Given the description of an element on the screen output the (x, y) to click on. 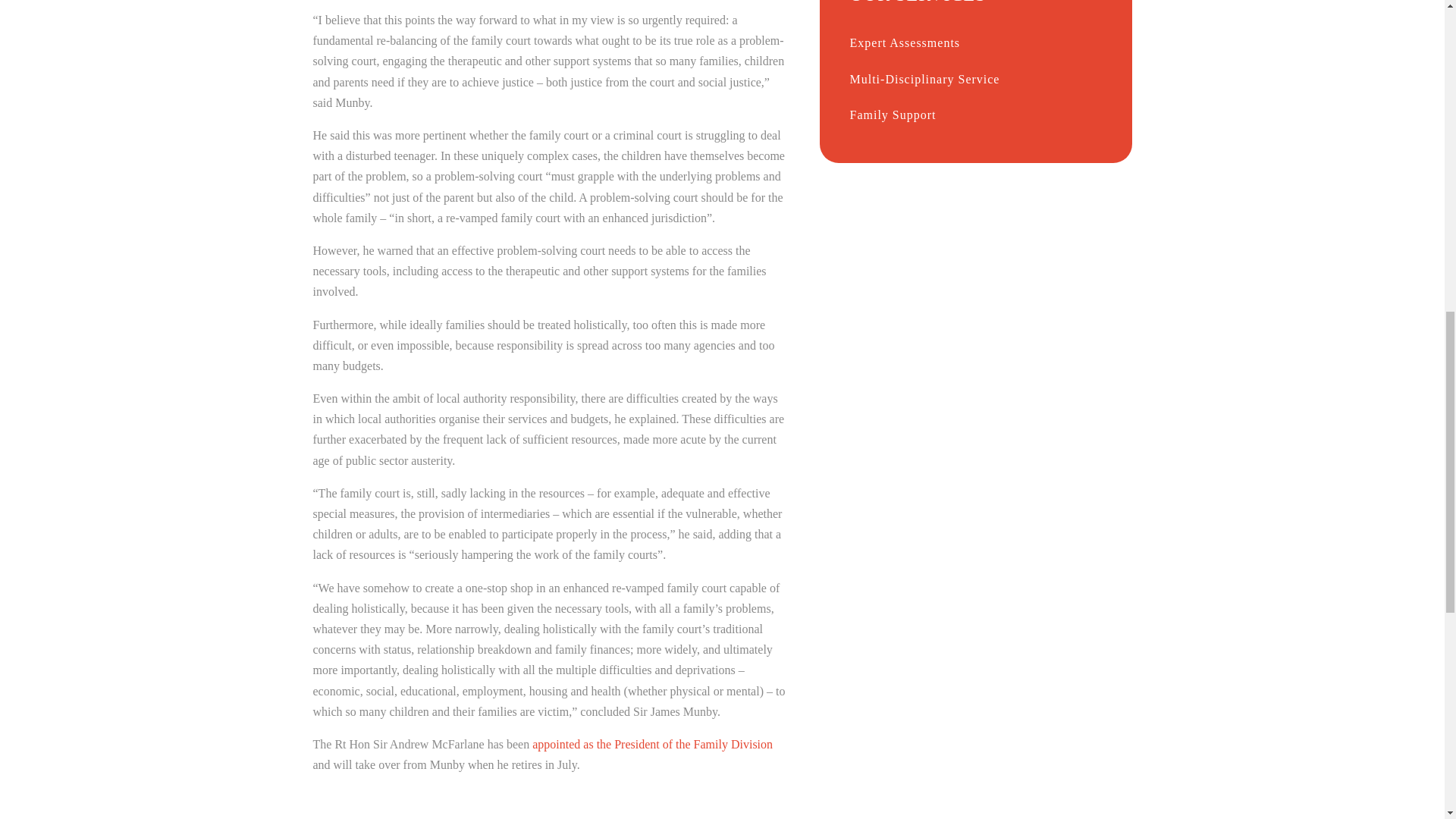
appointed as the President of the Family Division (652, 744)
